Given the description of an element on the screen output the (x, y) to click on. 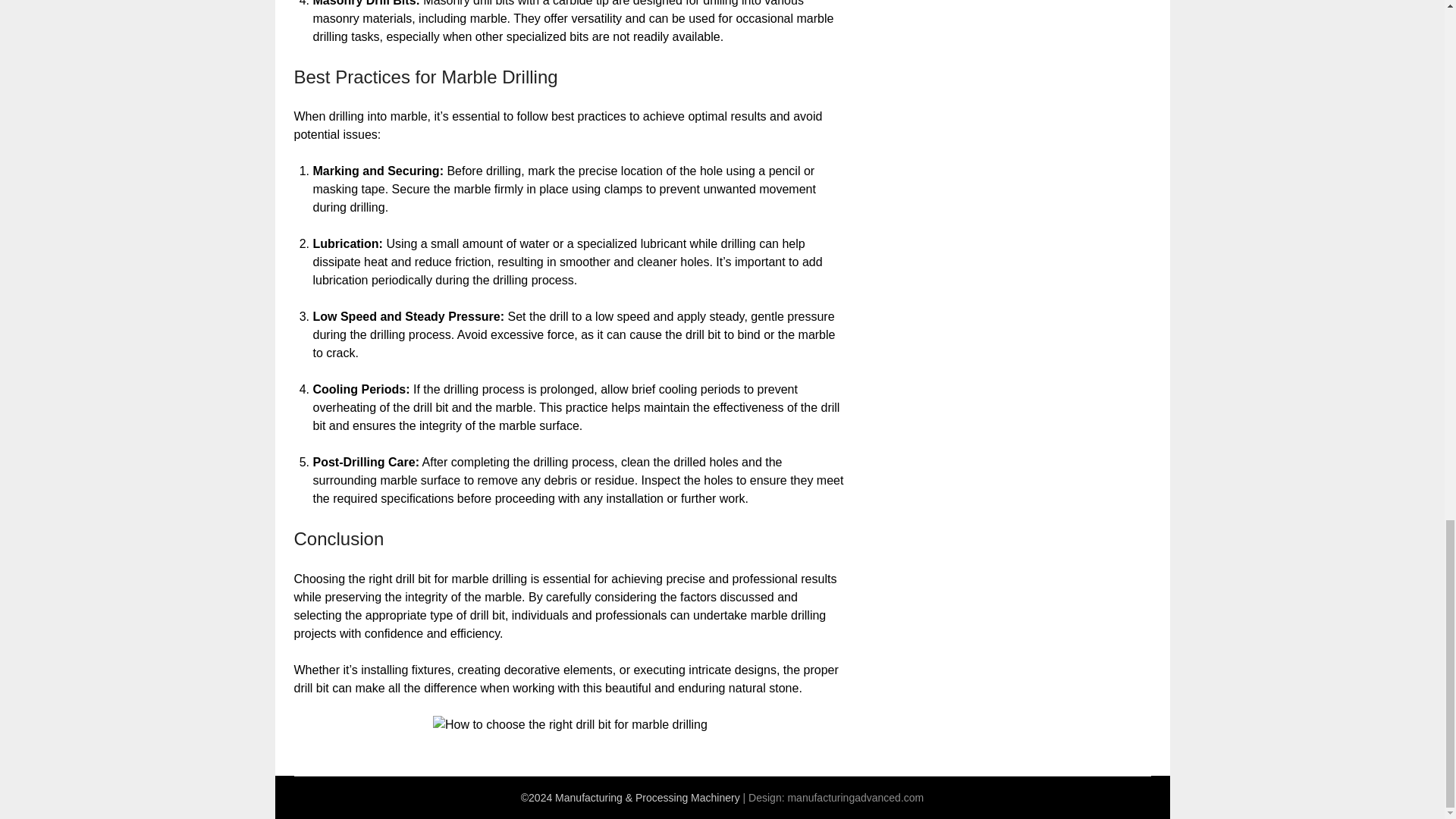
manufacturingadvanced.com (855, 797)
How to choose the right drill bit for marble drilling (569, 724)
